Given the description of an element on the screen output the (x, y) to click on. 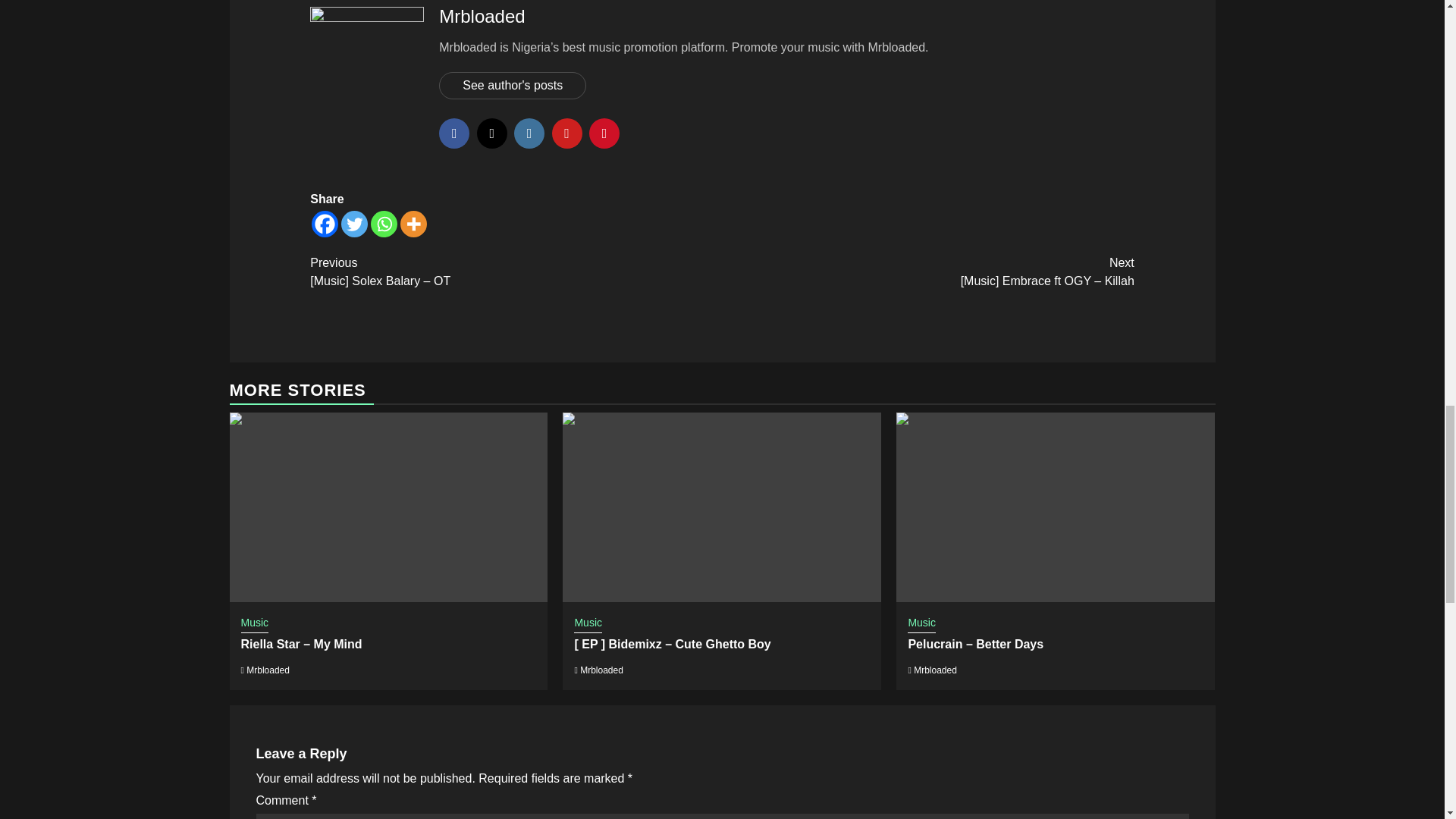
Twitter (354, 223)
Music (255, 624)
See author's posts (512, 85)
Facebook (324, 223)
More (413, 223)
Mrbloaded (267, 670)
Whatsapp (384, 223)
Music (587, 624)
Mrbloaded (481, 15)
Mrbloaded (601, 670)
